Given the description of an element on the screen output the (x, y) to click on. 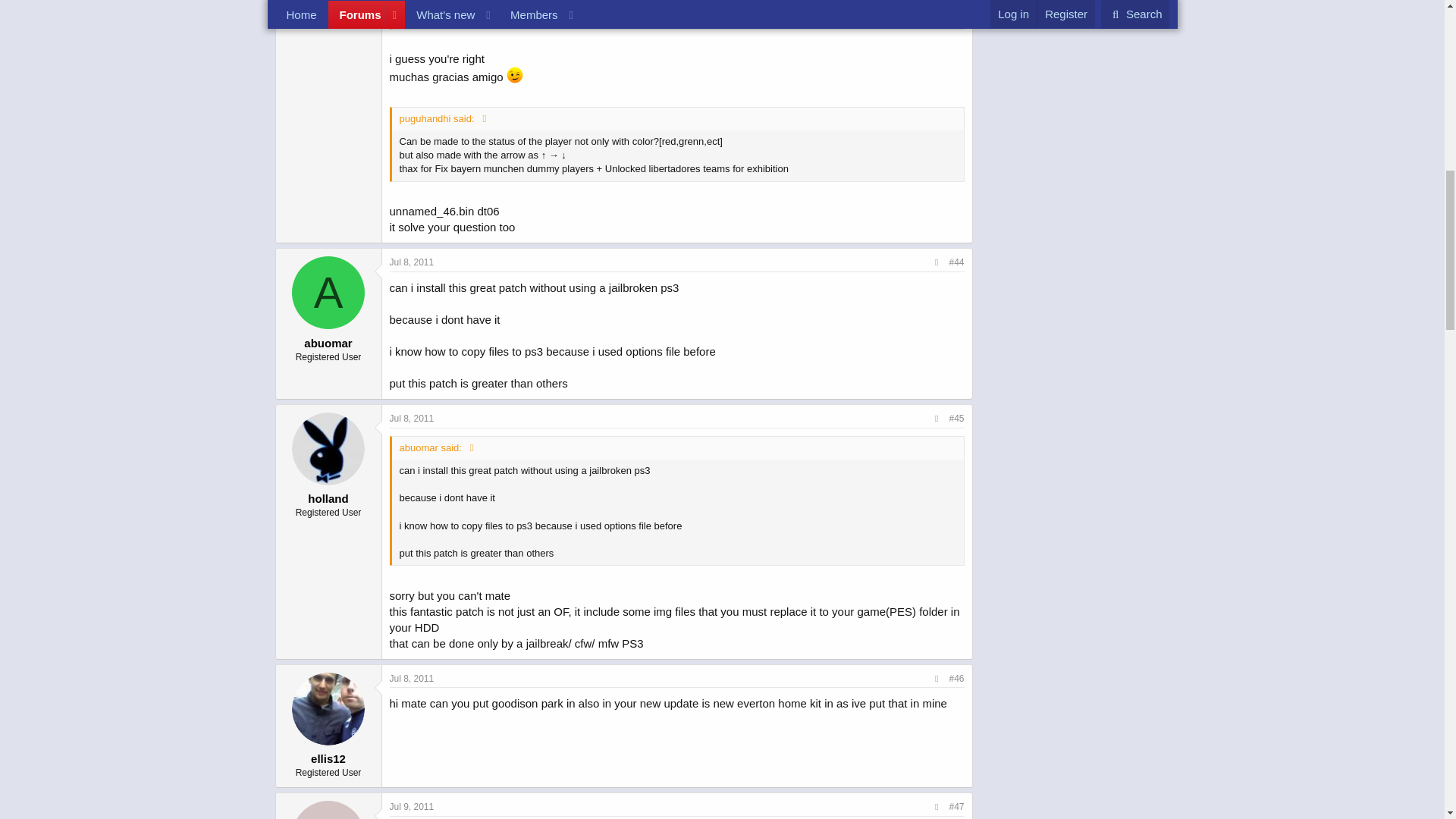
Jul 8, 2011 at 1:59 PM (411, 678)
Jul 9, 2011 at 4:48 AM (411, 806)
Jul 8, 2011 at 11:13 AM (411, 418)
Jul 8, 2011 at 10:54 AM (411, 262)
